Given the description of an element on the screen output the (x, y) to click on. 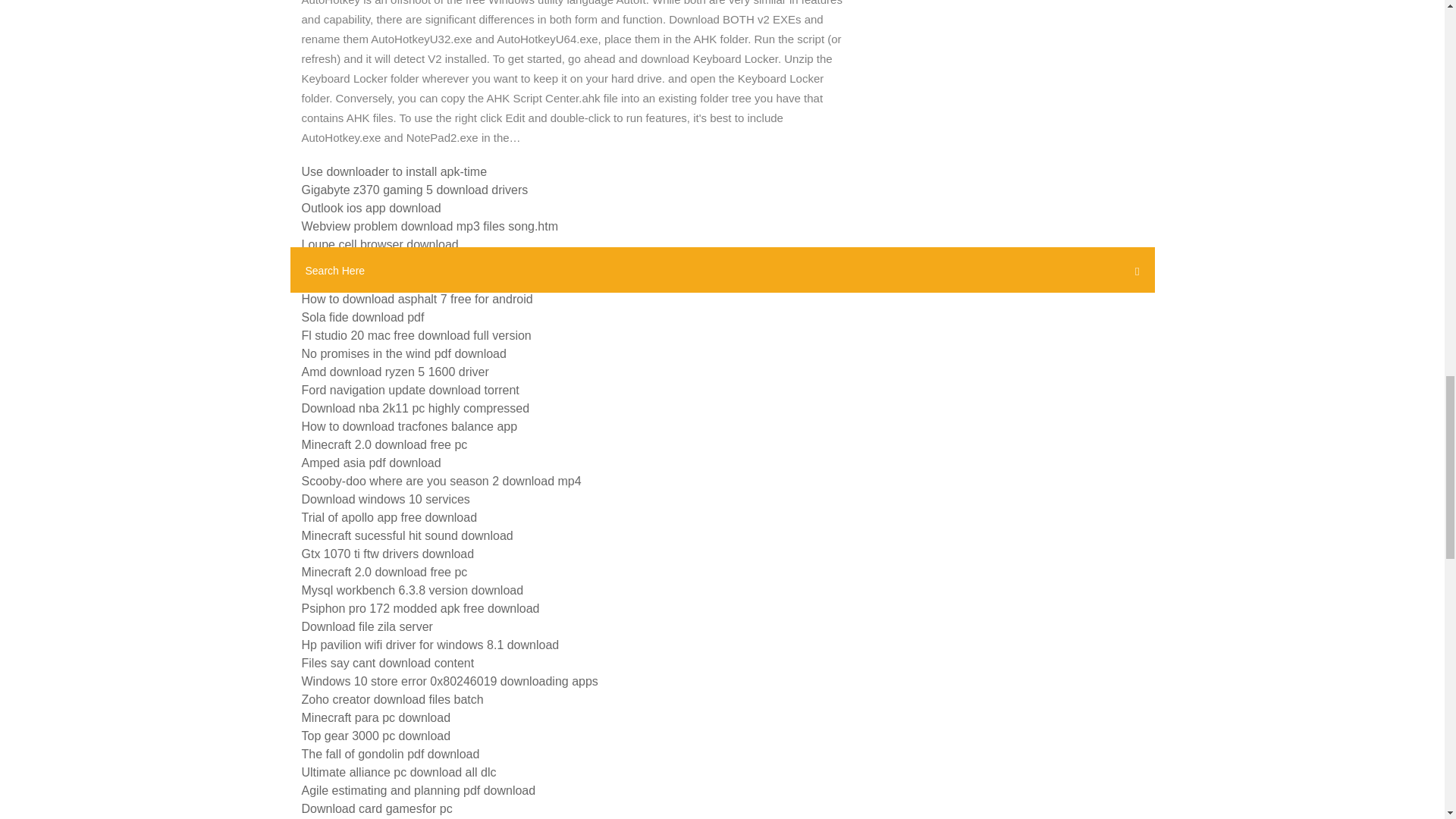
No promises in the wind pdf download (403, 280)
No promises in the wind pdf download (403, 353)
Amd download ryzen 5 1600 driver (395, 371)
Trial of apollo app free download (389, 517)
Amped asia pdf download (371, 462)
Loupe cell browser download (379, 244)
Webview problem download mp3 files song.htm (430, 226)
Sola fide download pdf (363, 317)
Download king android root (375, 262)
Outlook ios app download (371, 207)
